Given the description of an element on the screen output the (x, y) to click on. 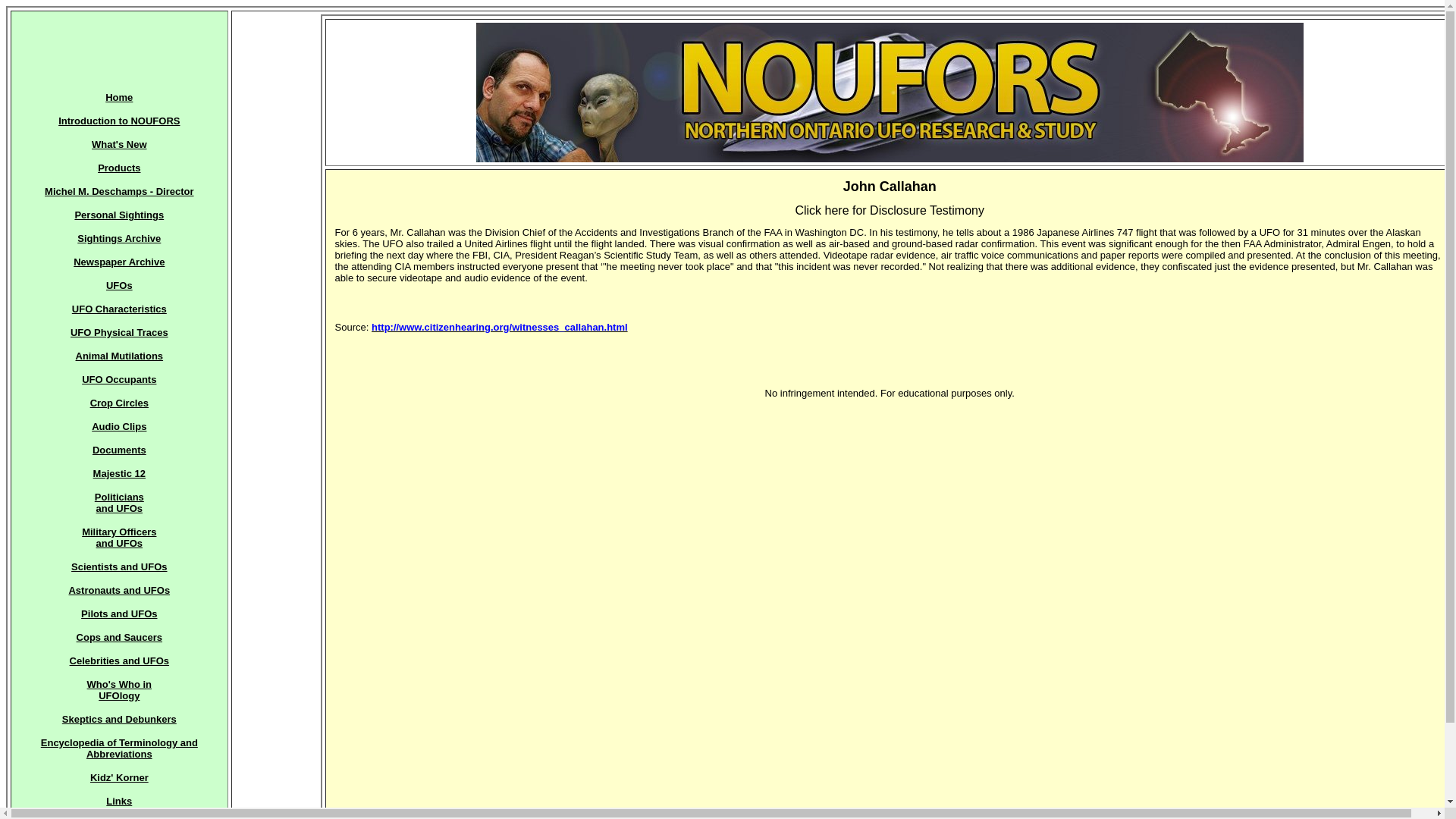
UFO Occupants (118, 378)
UFO Physical Traces (118, 332)
Pilots and UFOs (119, 613)
Cops and Saucers (119, 636)
Products (118, 537)
Kidz' Korner (118, 167)
What's New (119, 777)
Astronauts and UFOs (119, 143)
Majestic 12 (119, 590)
